Given the description of an element on the screen output the (x, y) to click on. 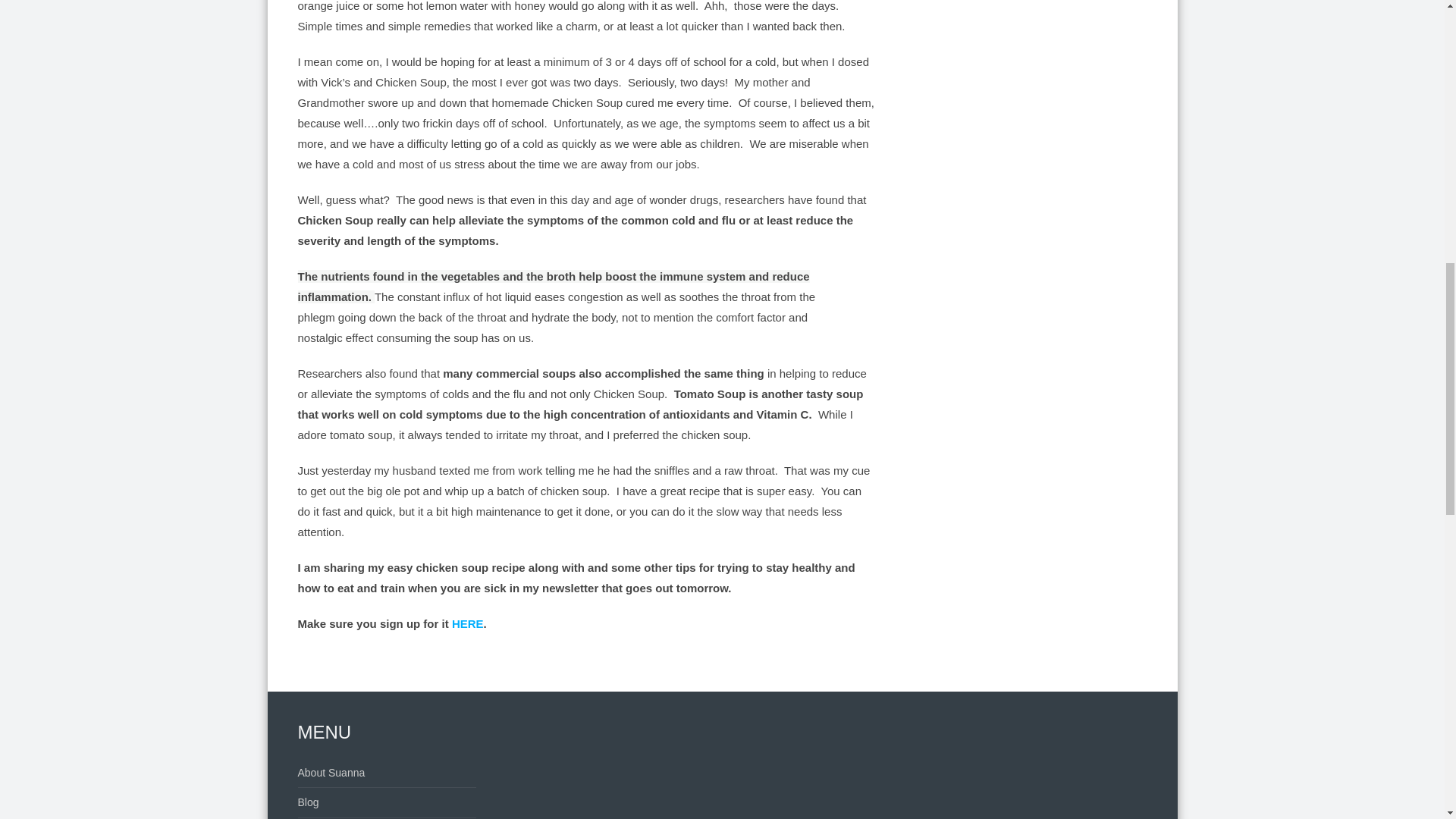
About Suanna (331, 772)
Blog (307, 802)
HERE (467, 623)
